Given the description of an element on the screen output the (x, y) to click on. 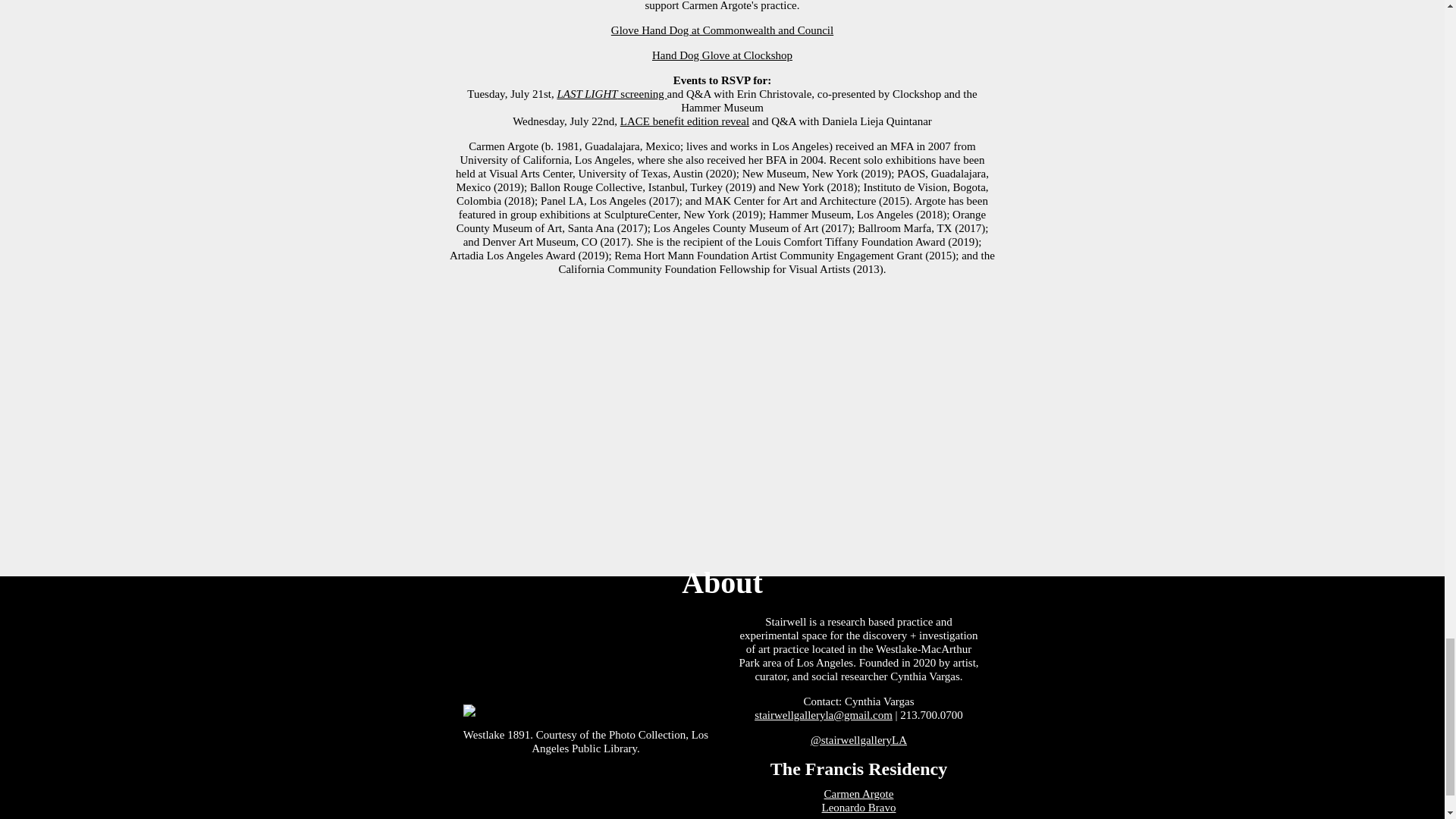
Leonardo Bravo (859, 807)
LACE benefit edition reveal (684, 121)
Glove Hand Dog at Commonwealth and Council (721, 30)
Carmen Argote (858, 793)
New LACE Edition from Carmen Argote (684, 121)
LAST LIGHT screening (611, 93)
Hand Dog Glove at Clockshop (722, 55)
